Given the description of an element on the screen output the (x, y) to click on. 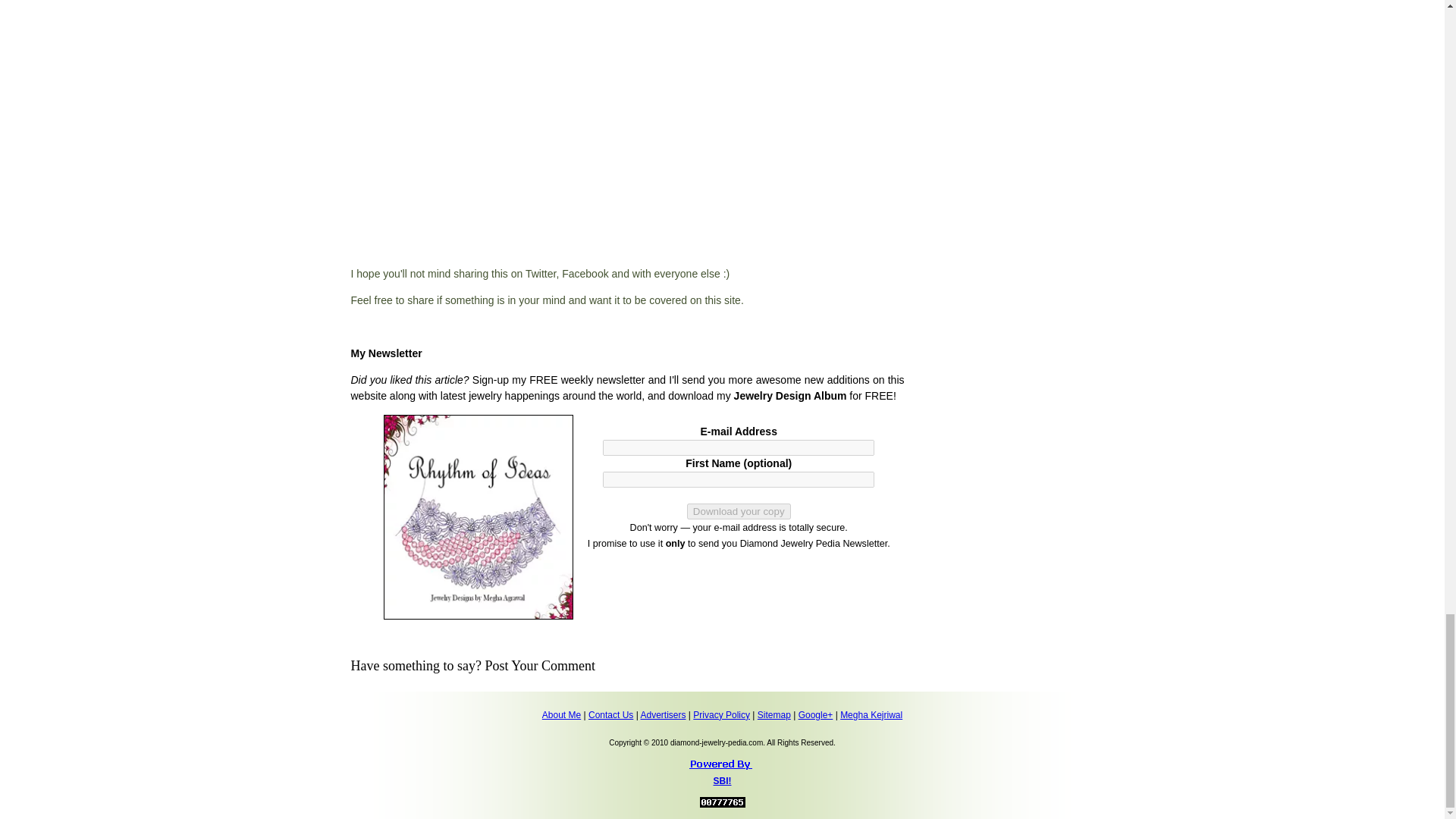
Download your copy (738, 511)
